Given the description of an element on the screen output the (x, y) to click on. 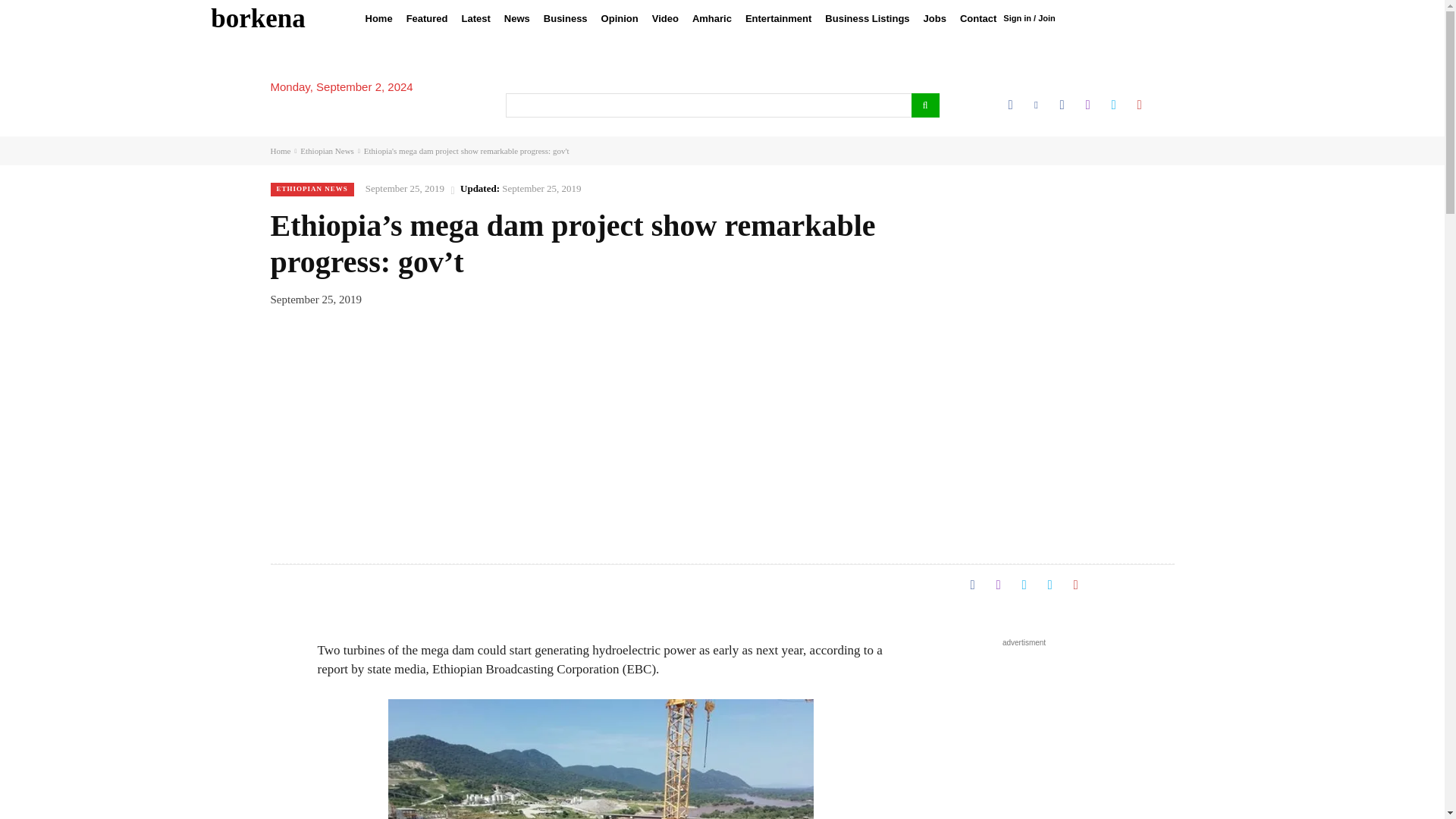
Contact (978, 18)
Featured (426, 18)
Amharic (711, 18)
Latest (475, 18)
Business (565, 18)
News (517, 18)
Entertainment (778, 18)
borkena (257, 18)
Business Listings (866, 18)
Jobs (935, 18)
